Given the description of an element on the screen output the (x, y) to click on. 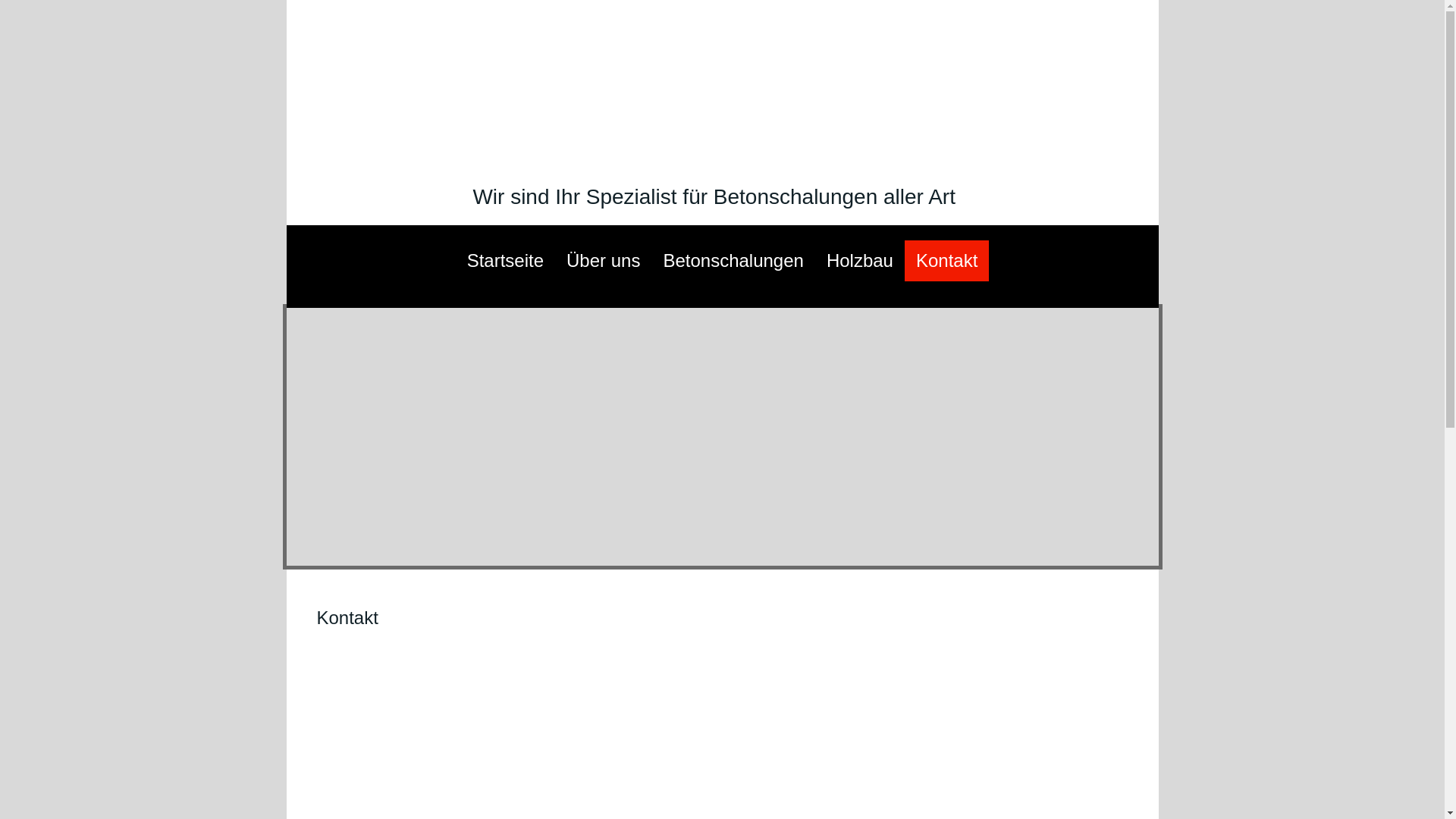
Holzbau Element type: text (859, 260)
Betonschalungen Element type: text (732, 260)
Kontakt Element type: text (946, 260)
Startseite Element type: text (505, 260)
